Given the description of an element on the screen output the (x, y) to click on. 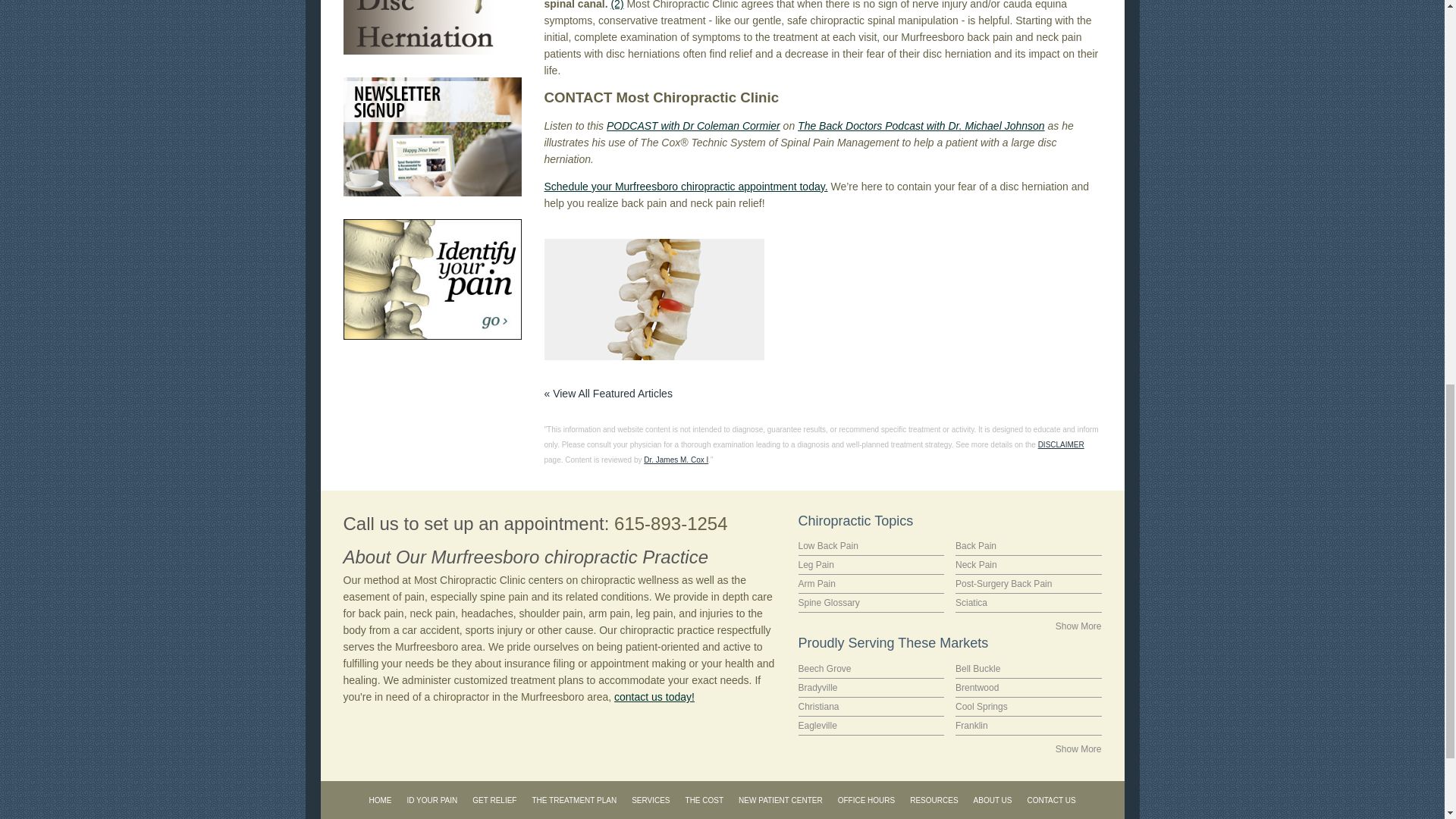
id-your-pain.jpg (431, 279)
disc-herniation-widget (431, 27)
Newsletter signup graphic.jpg (431, 136)
